Given the description of an element on the screen output the (x, y) to click on. 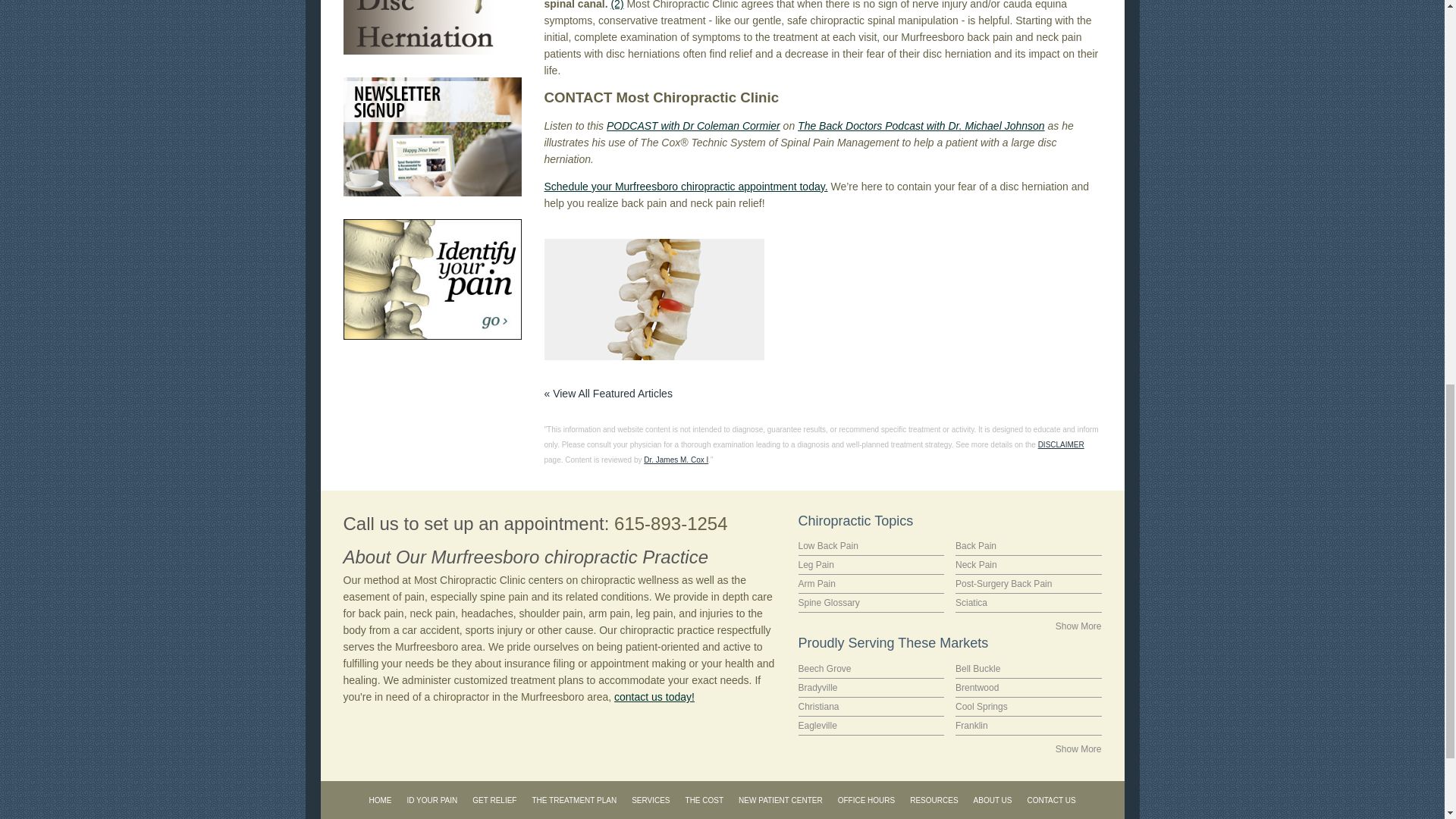
id-your-pain.jpg (431, 279)
disc-herniation-widget (431, 27)
Newsletter signup graphic.jpg (431, 136)
